Given the description of an element on the screen output the (x, y) to click on. 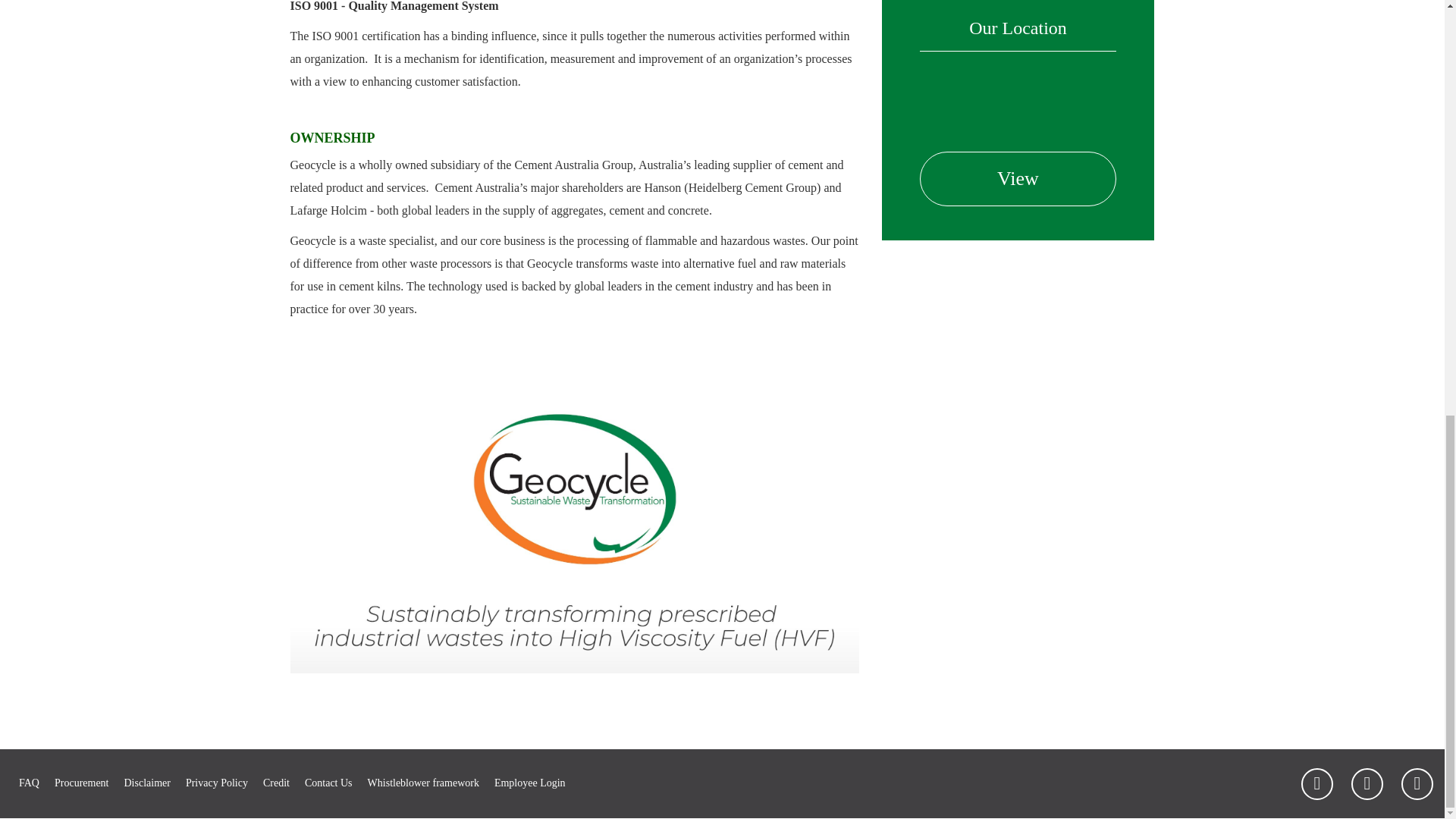
Contact Us (328, 783)
Whistleblower framework (423, 783)
Privacy Policy (216, 783)
Disclaimer (146, 783)
View (1017, 178)
Procurement (82, 783)
Employee Login (530, 783)
